Given the description of an element on the screen output the (x, y) to click on. 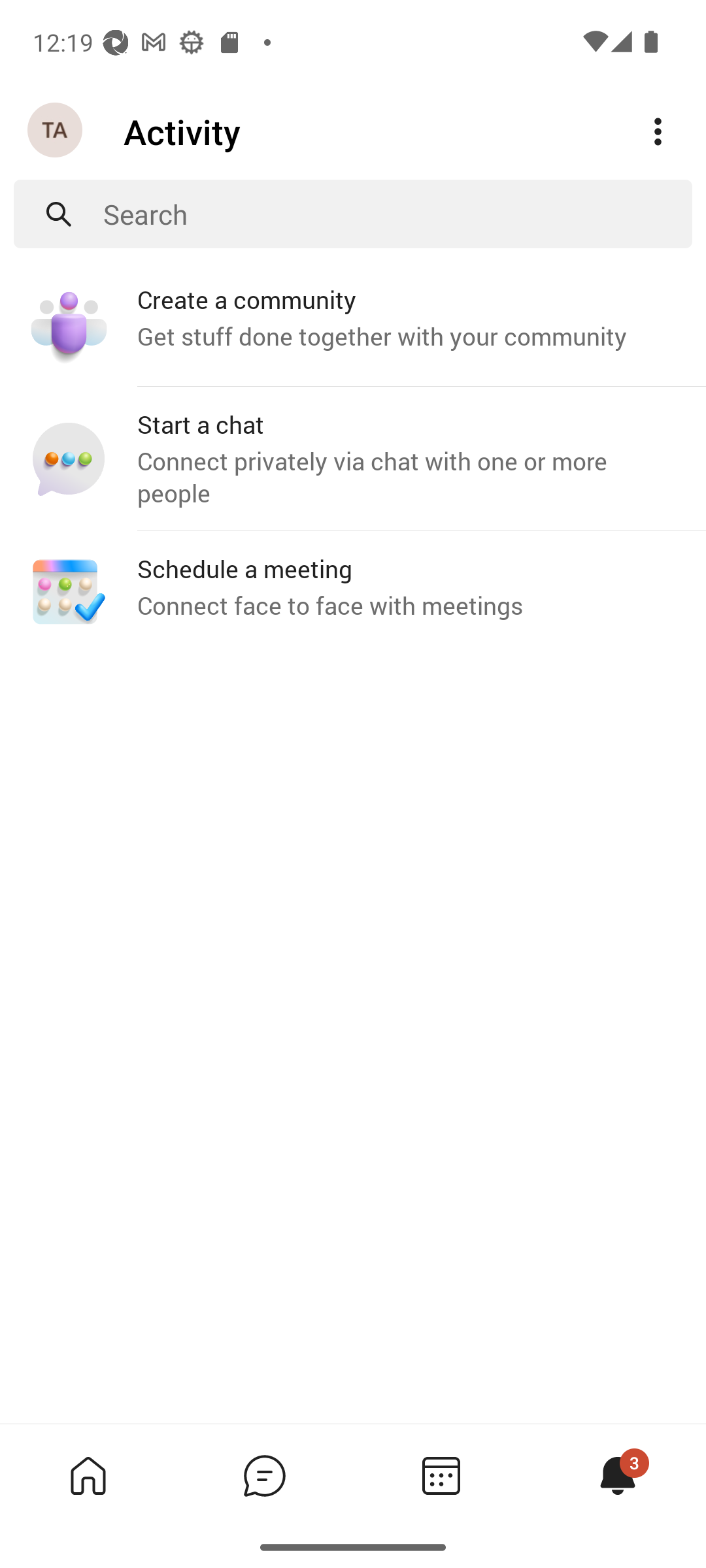
More options (657, 131)
Navigation (56, 130)
Search (397, 213)
Home tab,1 of 4, not selected (88, 1475)
Chat tab,2 of 4, not selected (264, 1475)
Calendar tab,3 of 4, not selected (441, 1475)
Activity tab, 4 of 4, 3 new 3 (617, 1475)
